Given the description of an element on the screen output the (x, y) to click on. 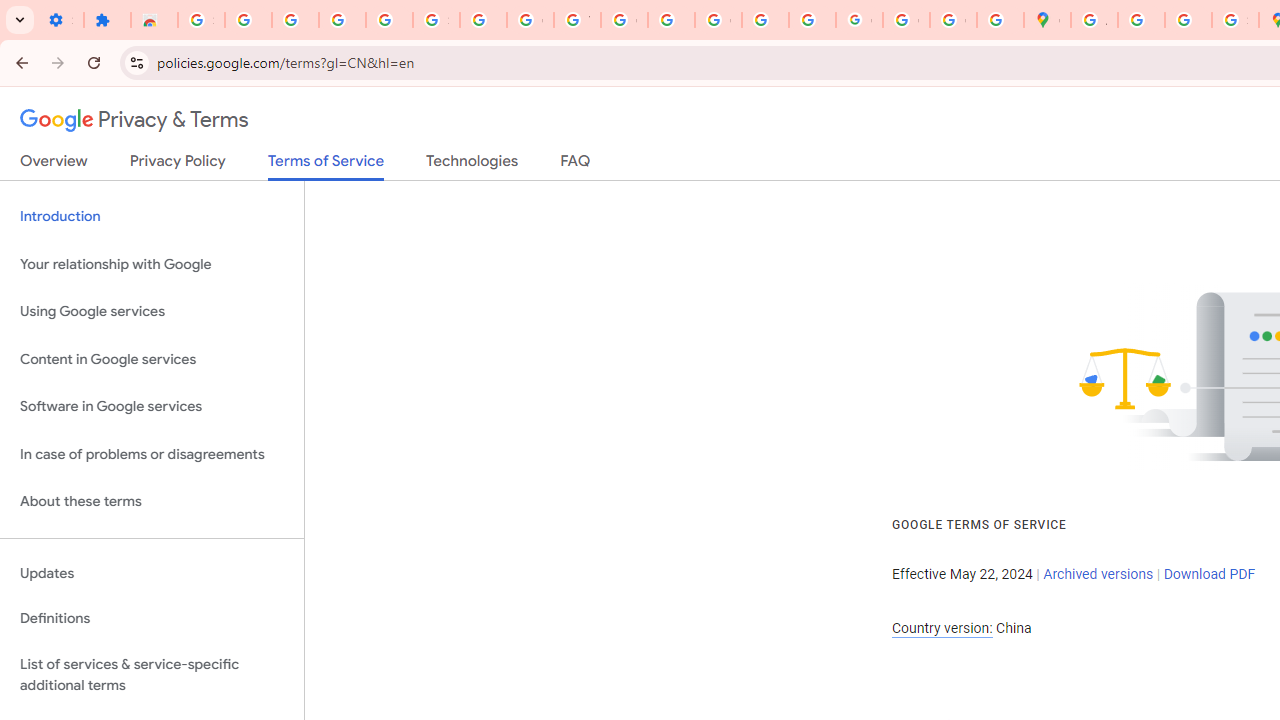
Google Maps (1047, 20)
Delete photos & videos - Computer - Google Photos Help (294, 20)
YouTube (577, 20)
In case of problems or disagreements (152, 453)
Download PDF (1209, 574)
Learn how to find your photos - Google Photos Help (342, 20)
Google Account (530, 20)
